Given the description of an element on the screen output the (x, y) to click on. 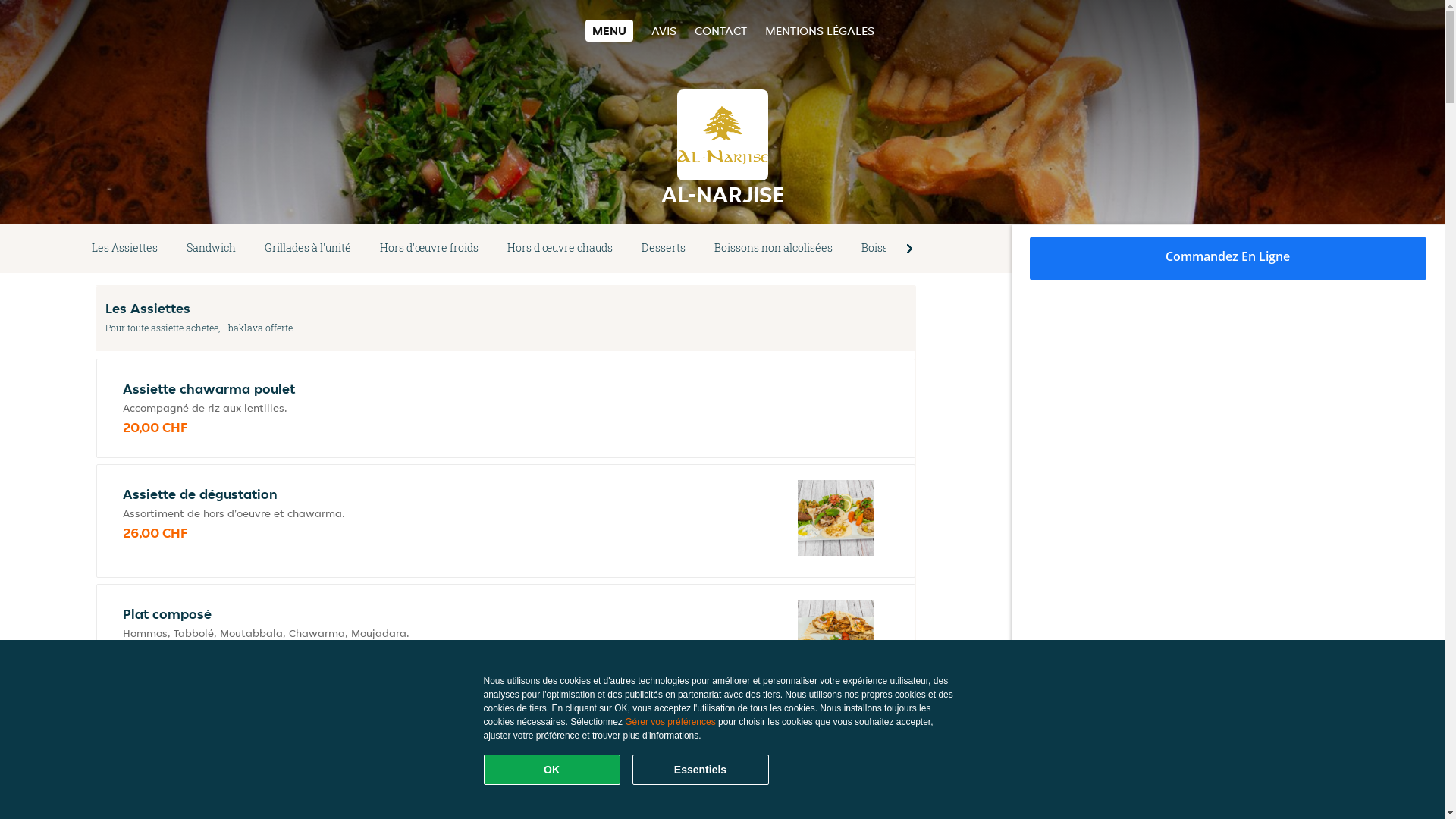
Essentiels Element type: text (700, 769)
MENU Element type: text (609, 30)
Sandwich Element type: text (211, 248)
Desserts Element type: text (663, 248)
CONTACT Element type: text (720, 30)
Commandez En Ligne Element type: text (1228, 258)
OK Element type: text (551, 769)
Les Assiettes Element type: text (124, 248)
AVIS Element type: text (663, 30)
